Given the description of an element on the screen output the (x, y) to click on. 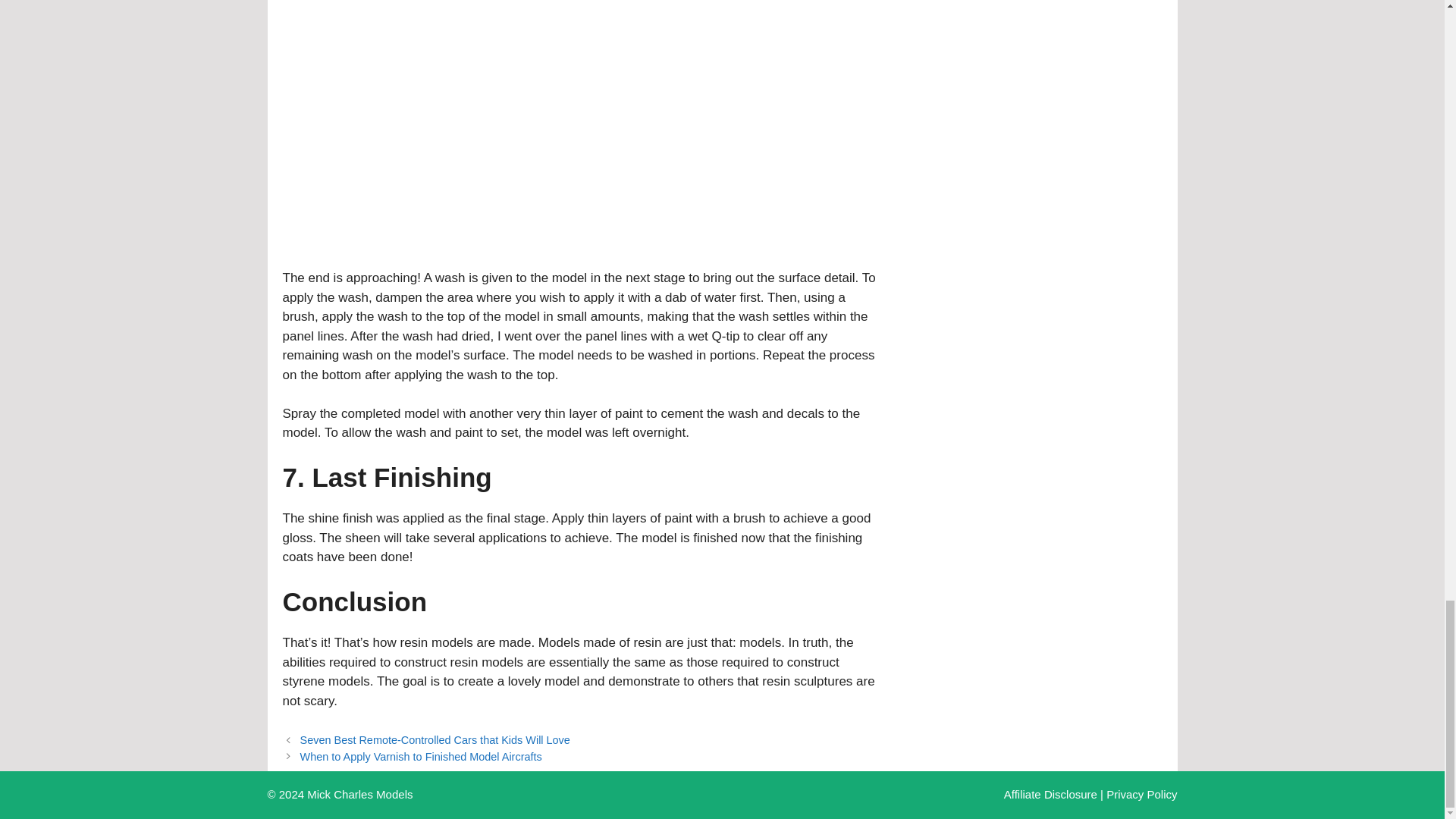
Seven Best Remote-Controlled Cars that Kids Will Love (434, 739)
When to Apply Varnish to Finished Model Aircrafts (420, 756)
